Given the description of an element on the screen output the (x, y) to click on. 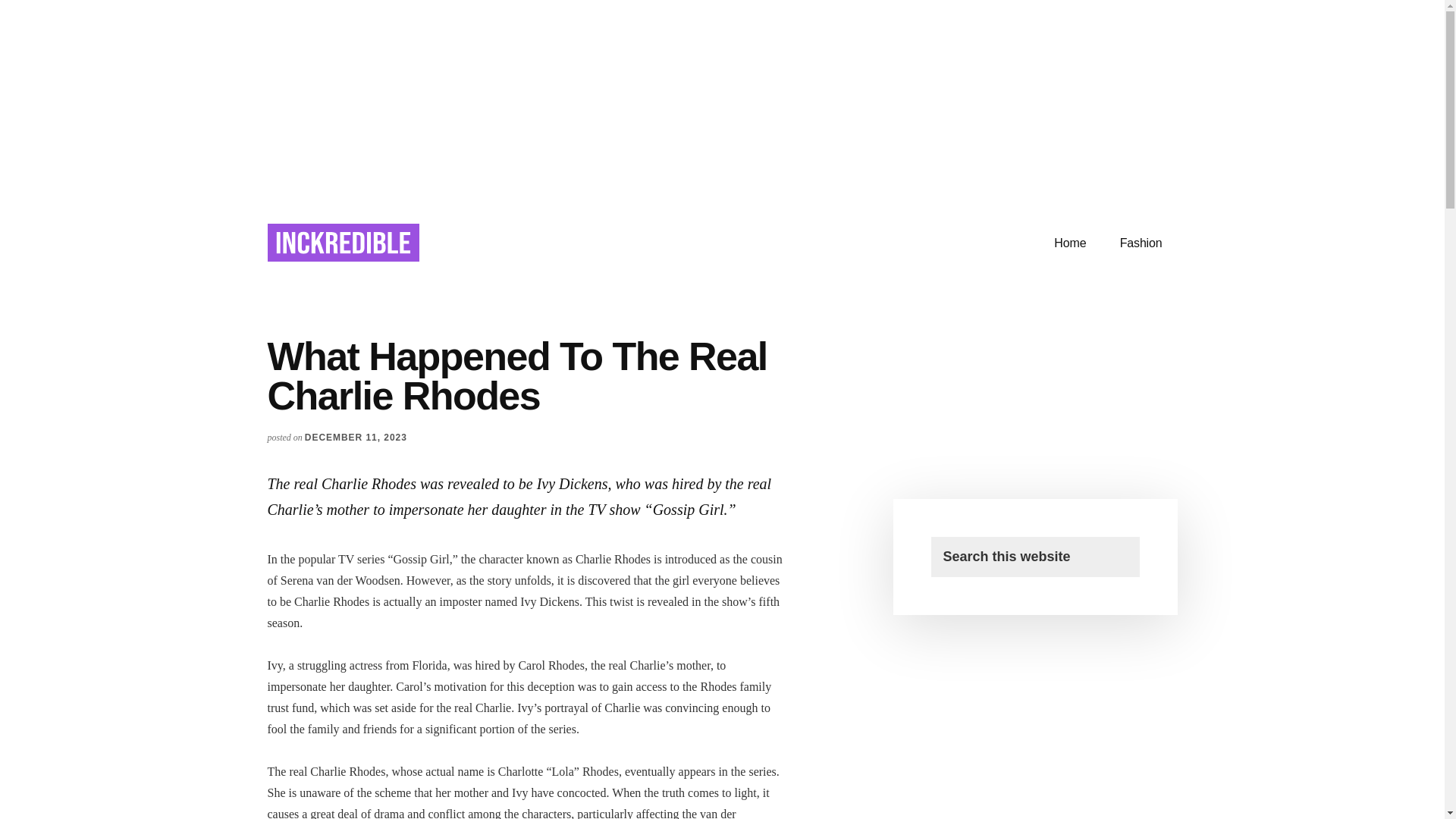
Advertisement (1034, 437)
Advertisement (721, 100)
Fashion (1141, 242)
Advertisement (1044, 746)
Home (1069, 242)
